Given the description of an element on the screen output the (x, y) to click on. 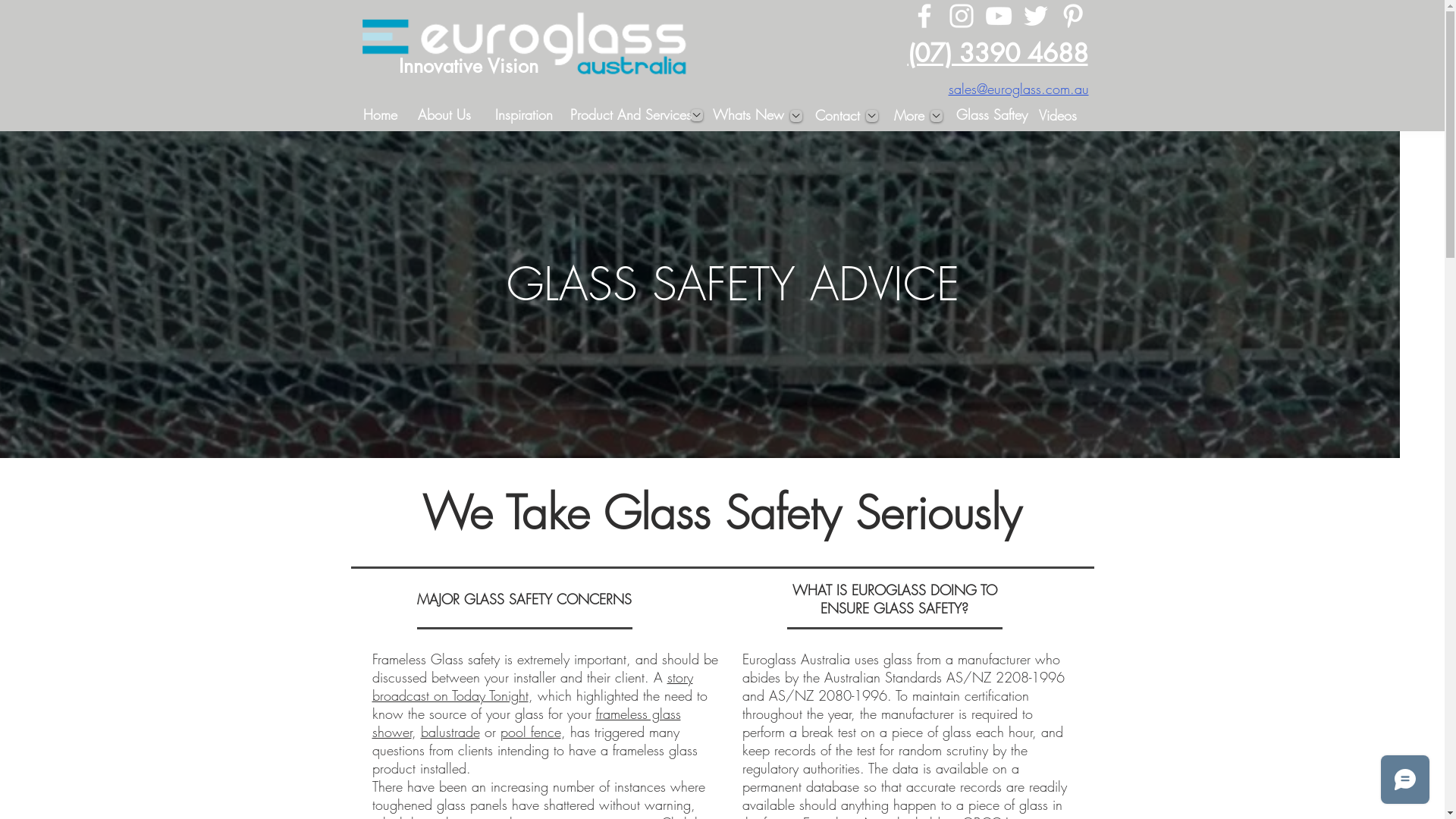
More Element type: text (909, 115)
Whats New Element type: text (747, 115)
Glass Saftey Element type: text (991, 115)
sales@euroglass.com.au Element type: text (1017, 88)
Videos Element type: text (1057, 115)
story broadcast on Today Tonight Element type: text (531, 686)
About Us Element type: text (444, 115)
frameless glass shower Element type: text (525, 722)
Inspiration Element type: text (523, 115)
Contact Element type: text (836, 115)
Innovative Vision Element type: text (468, 65)
Product And Services Element type: text (630, 115)
balustrade Element type: text (449, 731)
Home Element type: text (379, 115)
pool fence Element type: text (530, 731)
(07) 3390 4688 Element type: text (996, 53)
